Given the description of an element on the screen output the (x, y) to click on. 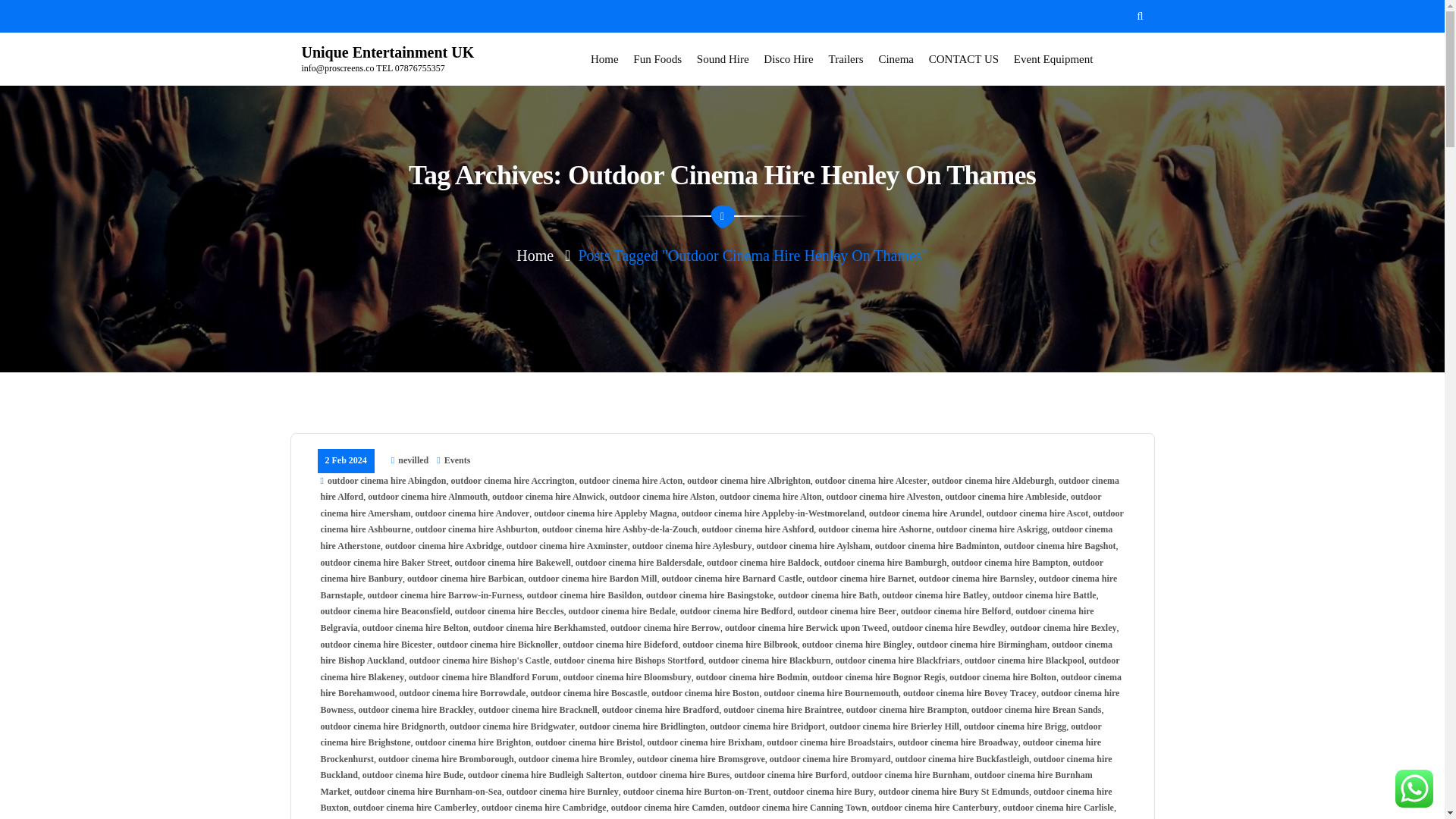
Home (604, 58)
Trailers (845, 58)
Disco Hire (787, 58)
Sound Hire (722, 58)
Unique Entertainment UK (387, 52)
Home (604, 58)
Fun Foods (657, 58)
Fun Foods (657, 58)
